Given the description of an element on the screen output the (x, y) to click on. 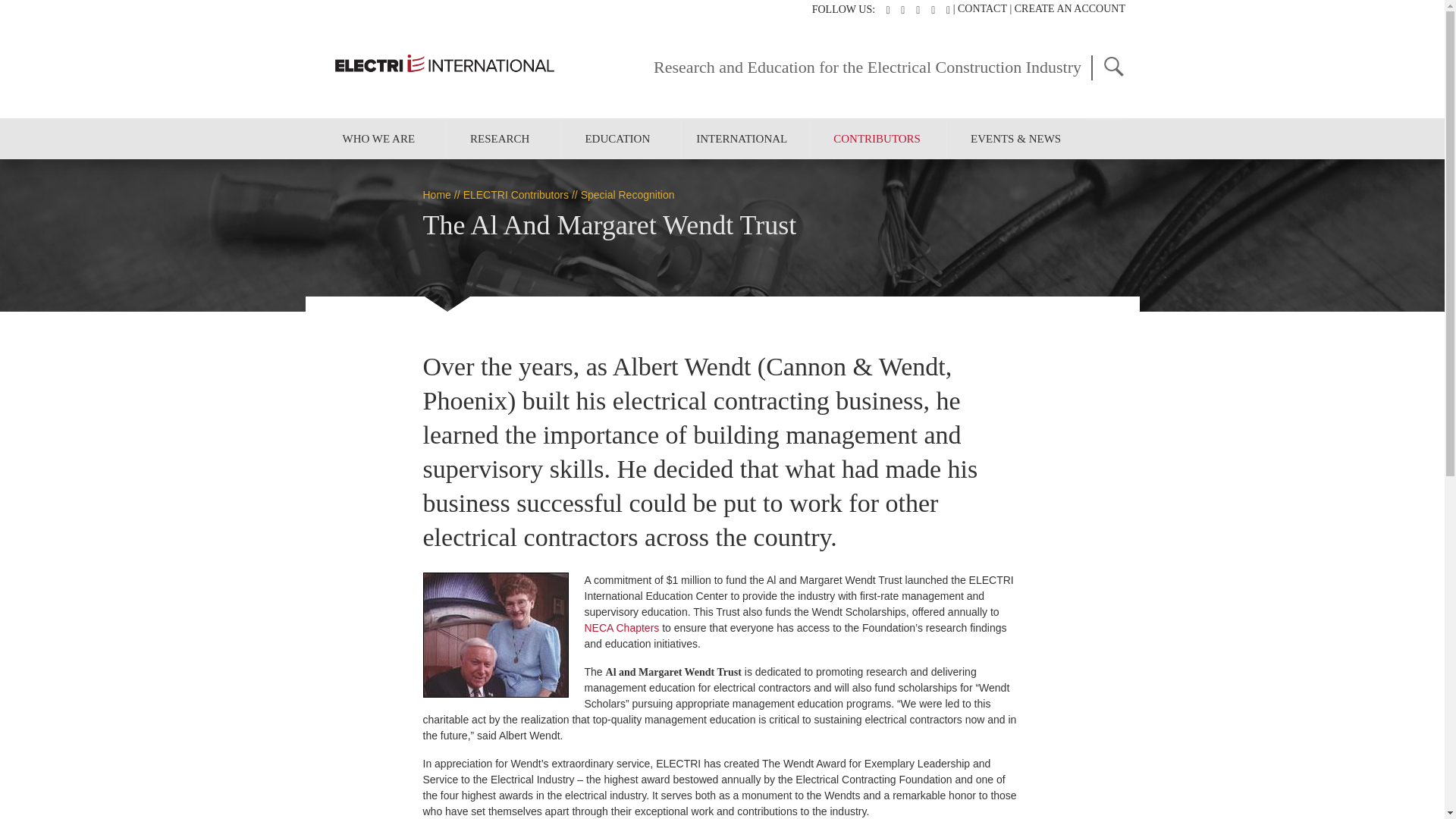
Go to ELECTRI International. (437, 194)
Search (1113, 66)
Go to Special Recognition. (627, 194)
Go to ELECTRI Contributors. (516, 194)
Search (1113, 66)
EDUCATION (617, 138)
RESEARCH (499, 138)
Search (1113, 66)
CONTACT (982, 8)
CREATE AN ACCOUNT (1069, 8)
WHO WE ARE (378, 138)
